Given the description of an element on the screen output the (x, y) to click on. 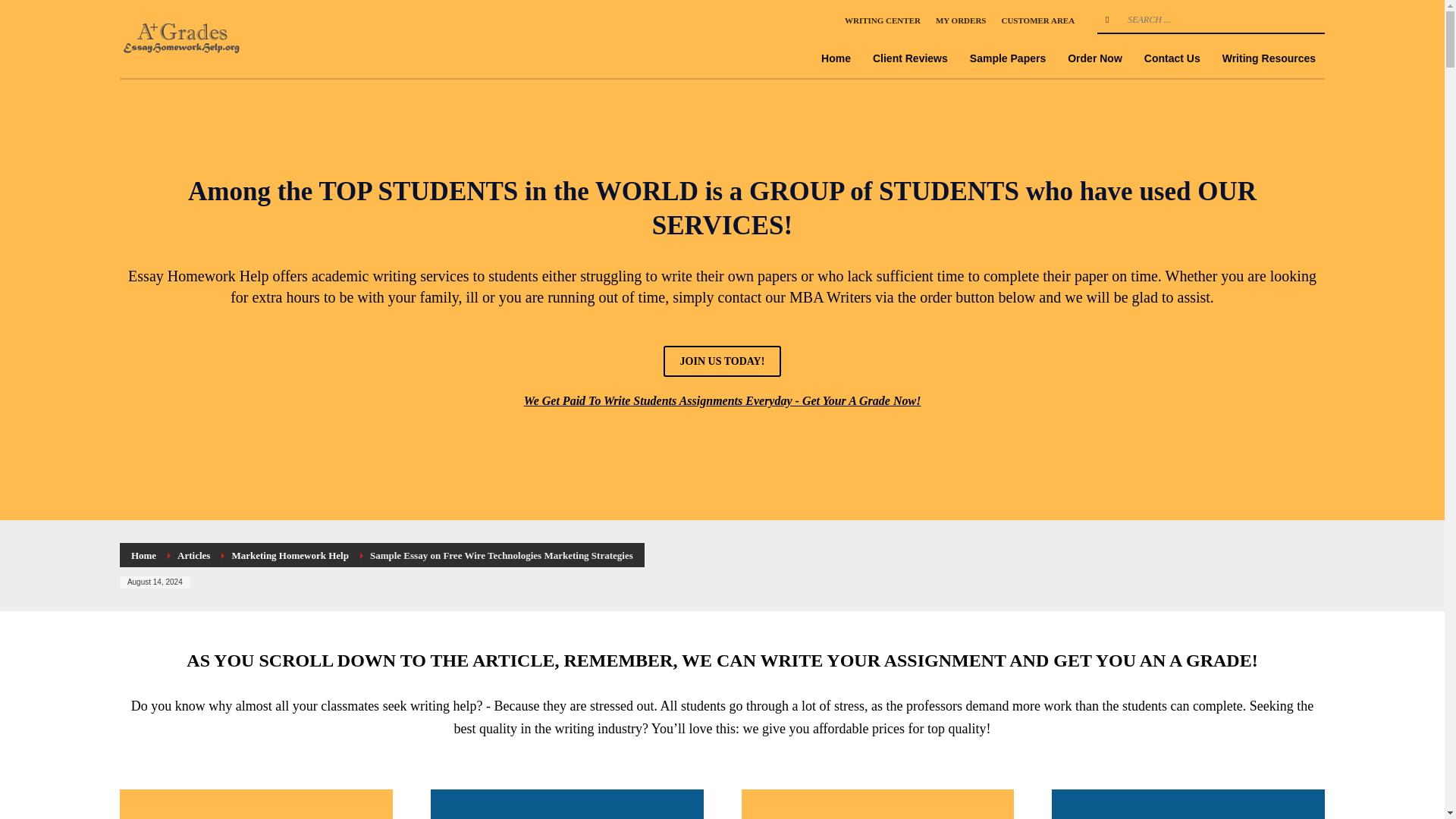
WRITING CENTER (882, 20)
Articles (193, 555)
Client Reviews (909, 57)
Home (143, 555)
go (1107, 19)
CUSTOMER AREA (1037, 20)
Sample Papers (1007, 57)
Marketing Homework Help (290, 555)
Home (836, 57)
MY ORDERS (961, 20)
